Given the description of an element on the screen output the (x, y) to click on. 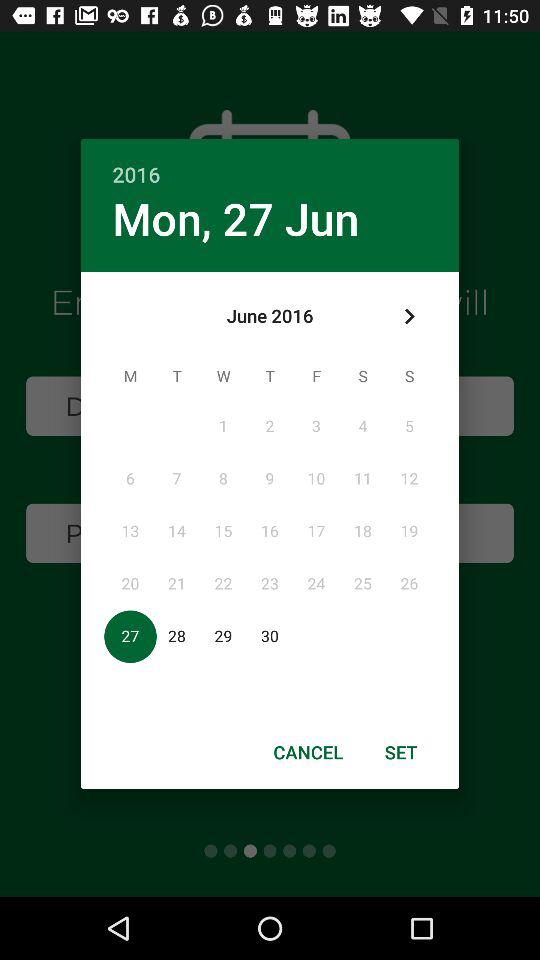
click the item below 2016 icon (235, 218)
